Given the description of an element on the screen output the (x, y) to click on. 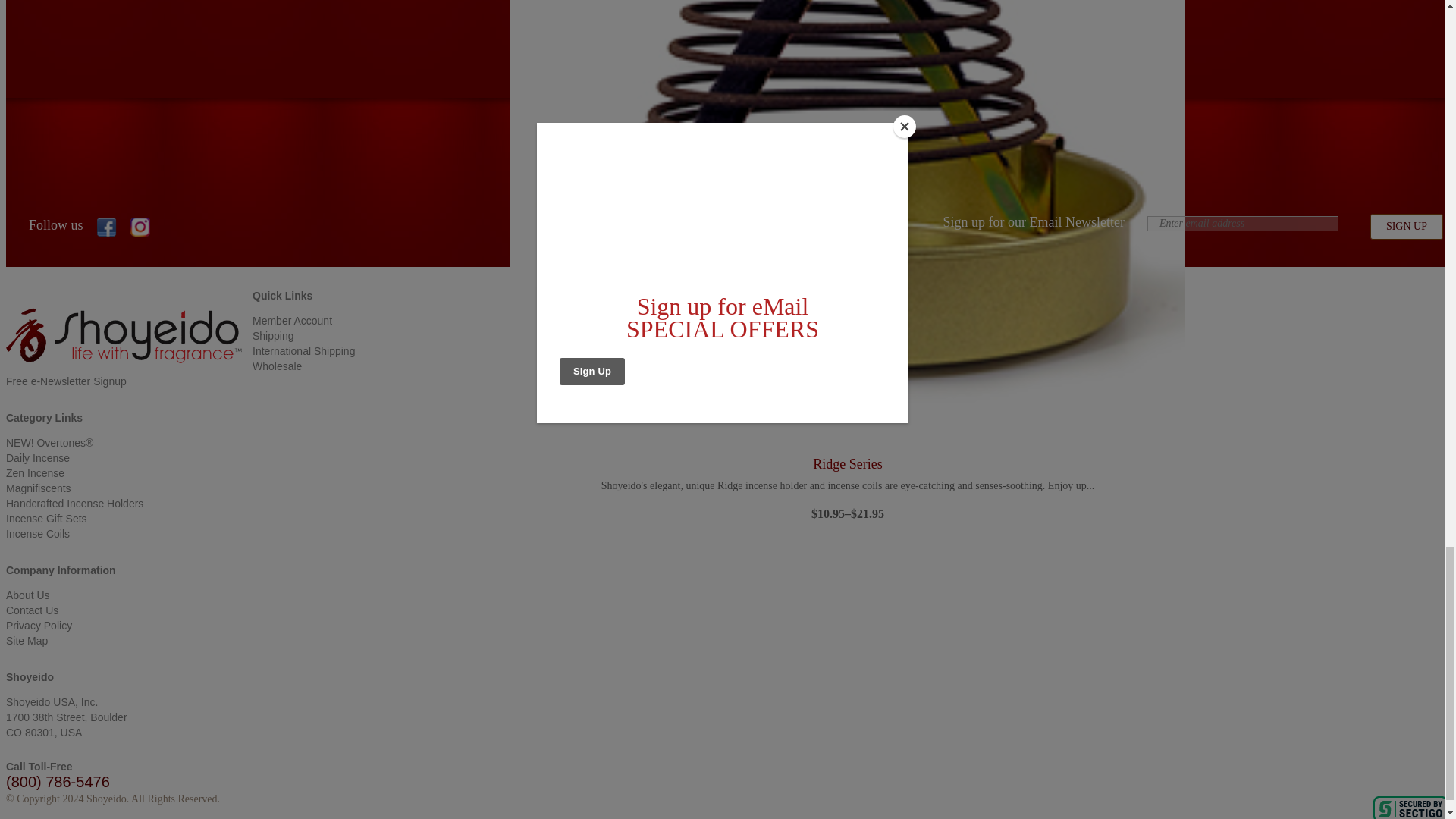
Enter email address (1242, 223)
Sign Up (1406, 226)
